Given the description of an element on the screen output the (x, y) to click on. 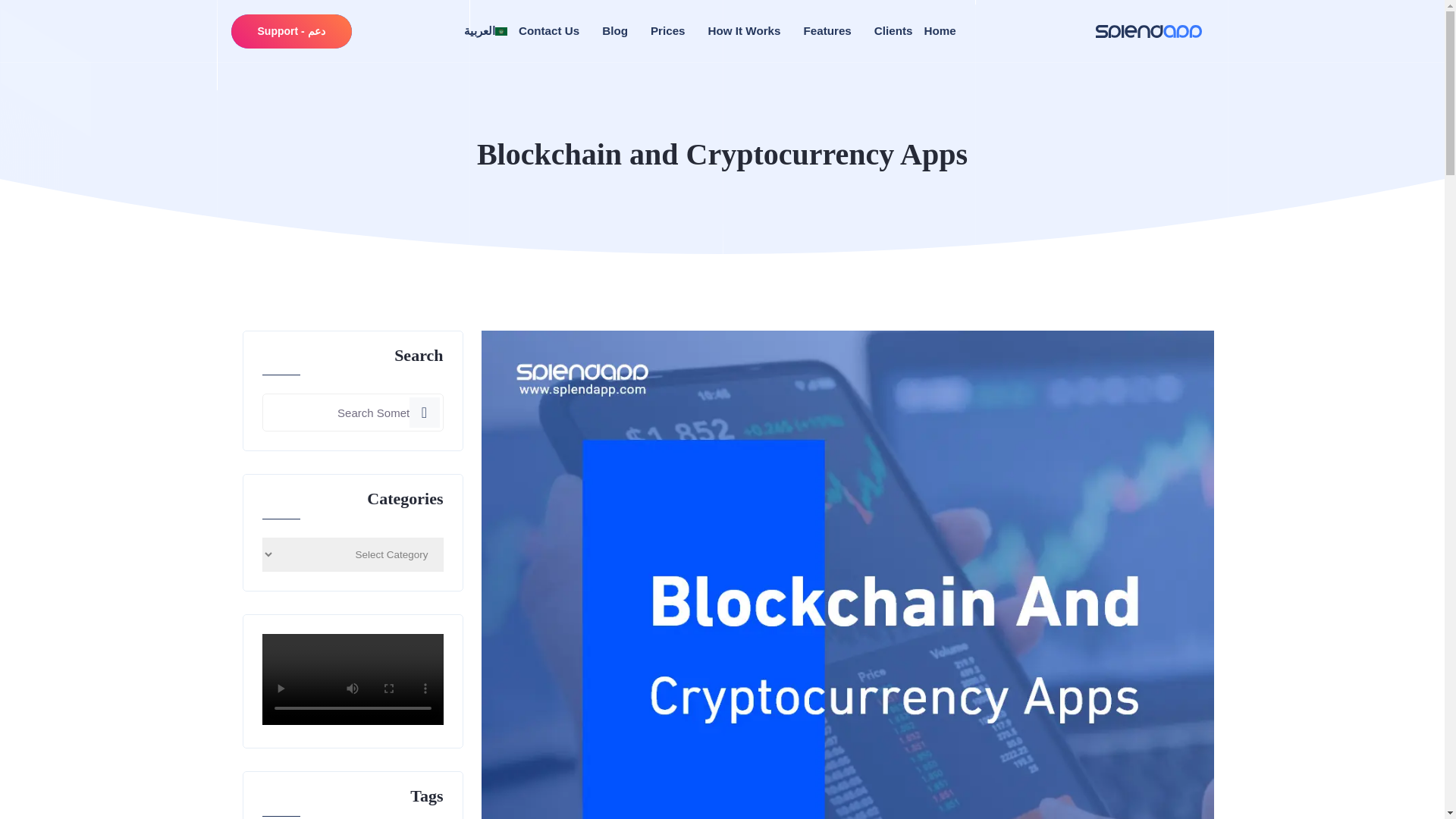
Clients (893, 31)
Blog (614, 31)
Contact Us (548, 31)
How It Works (743, 31)
Features (826, 31)
Features (826, 31)
Prices (667, 31)
Contact Us (548, 31)
Home (939, 31)
Blog (614, 31)
How It Works (743, 31)
Prices (667, 31)
Clients (893, 31)
Home (939, 31)
